Given the description of an element on the screen output the (x, y) to click on. 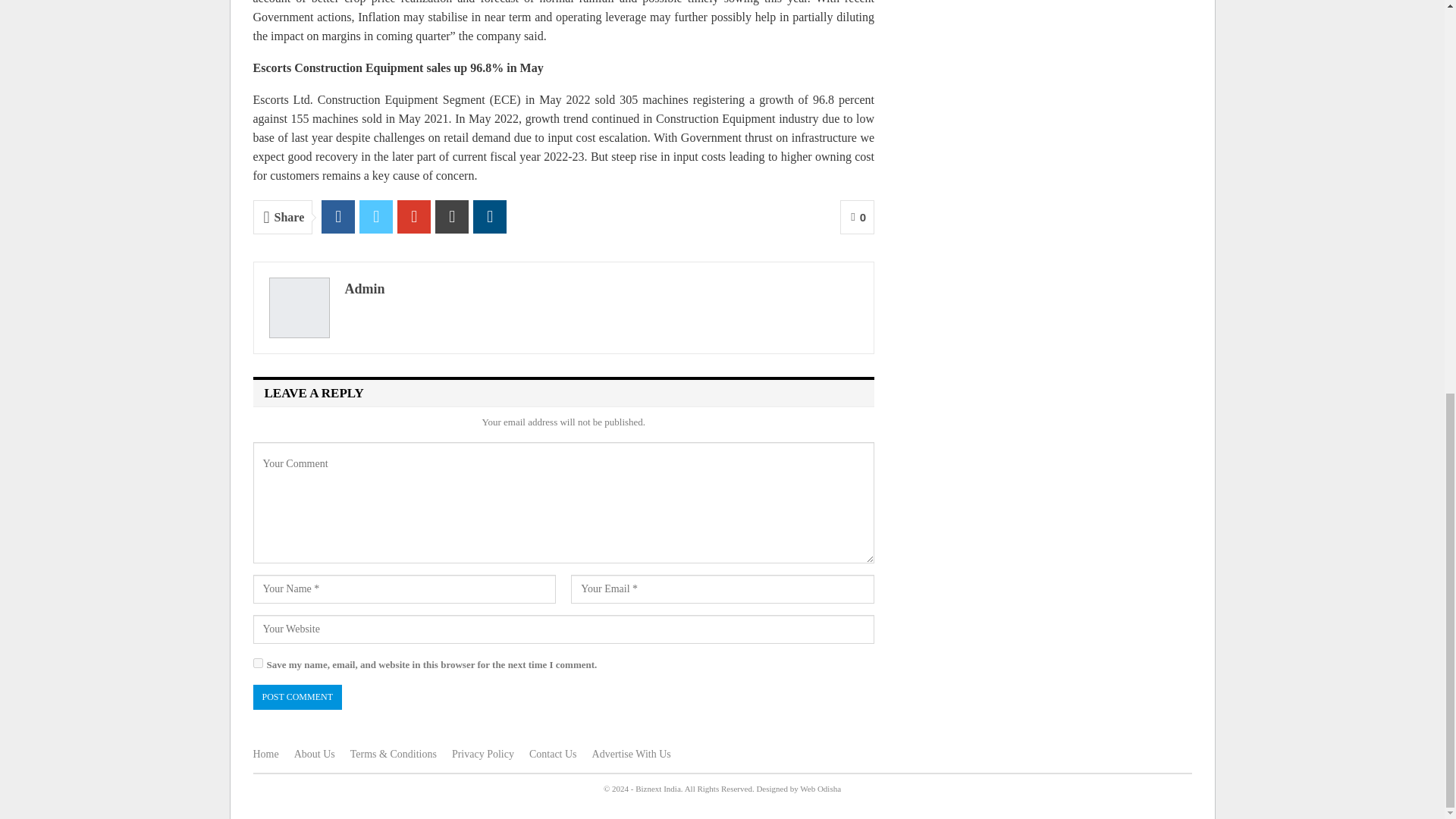
Web Odisha (820, 788)
Post Comment (297, 697)
yes (258, 663)
